Given the description of an element on the screen output the (x, y) to click on. 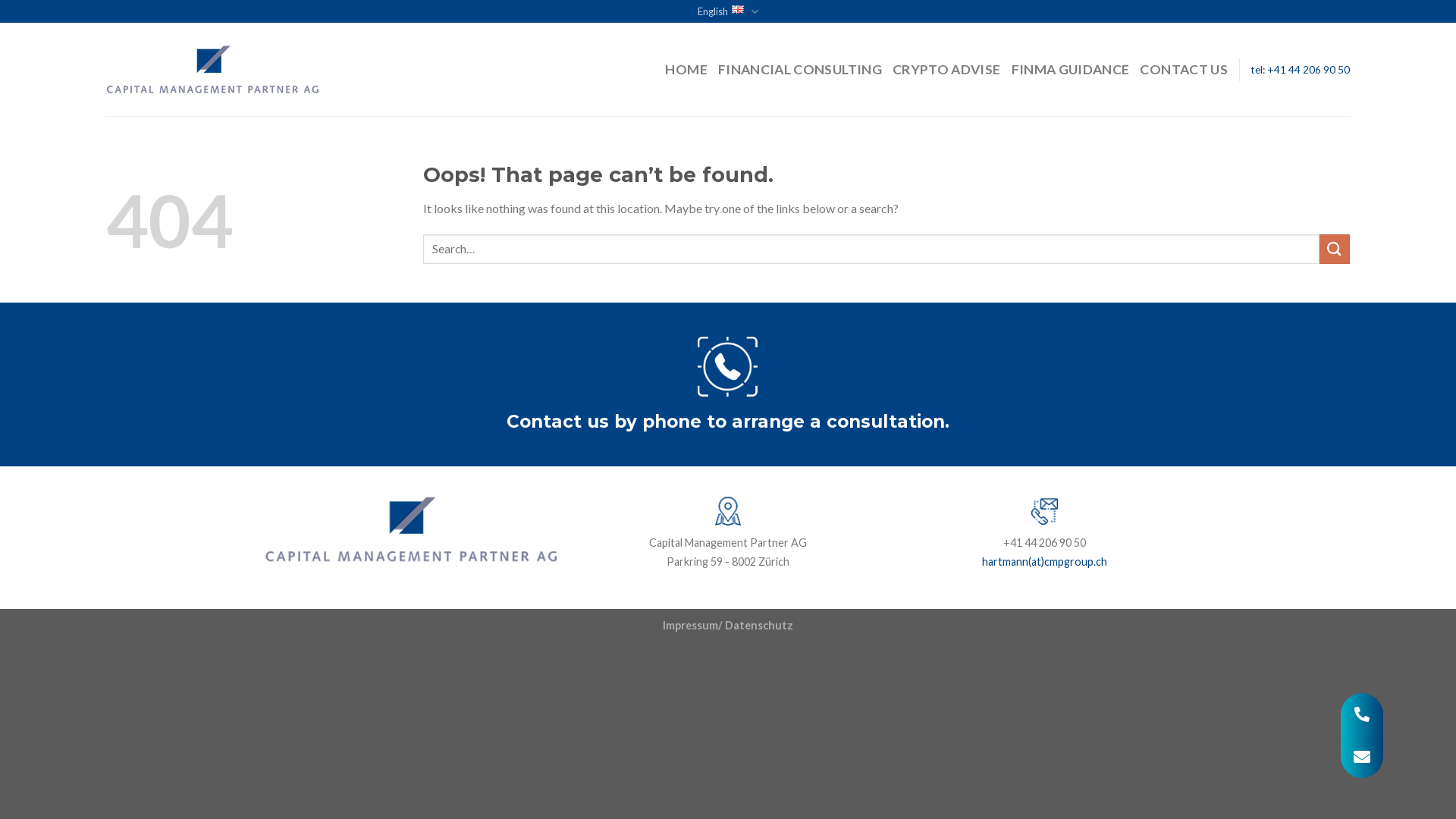
English Element type: text (727, 11)
CONTACT US Element type: text (1183, 69)
tel: +41 44 206 90 50 Element type: text (1299, 69)
Impressum/ Datenschutz Element type: text (727, 624)
HOME Element type: text (685, 69)
CRYPTO ADVISE Element type: text (946, 69)
FINANCIAL CONSULTING Element type: text (799, 69)
hartmann(at)cmpgroup.ch Element type: text (1044, 562)
FINMA GUIDANCE Element type: text (1070, 69)
